Given the description of an element on the screen output the (x, y) to click on. 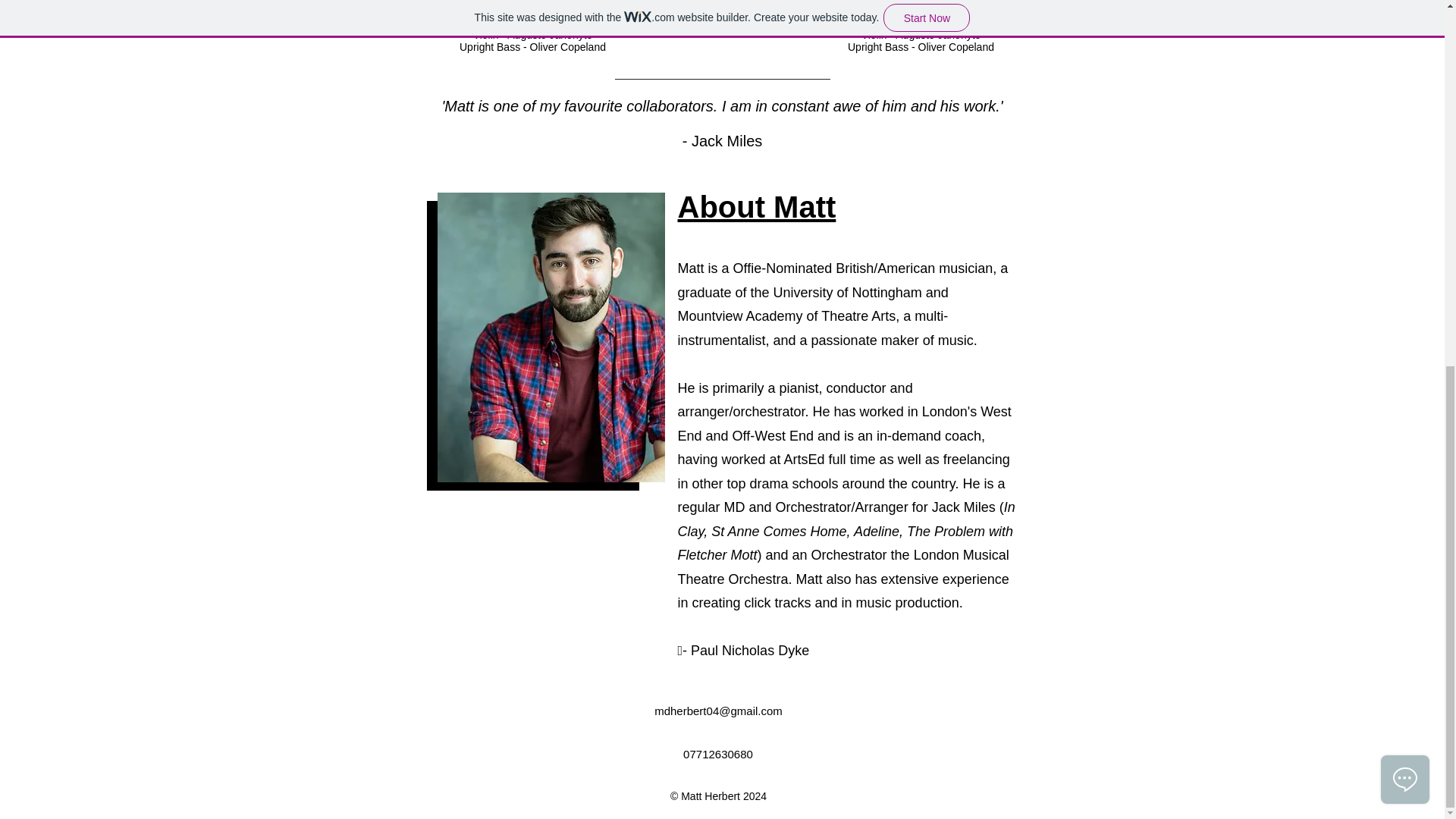
About Matt (756, 206)
